Given the description of an element on the screen output the (x, y) to click on. 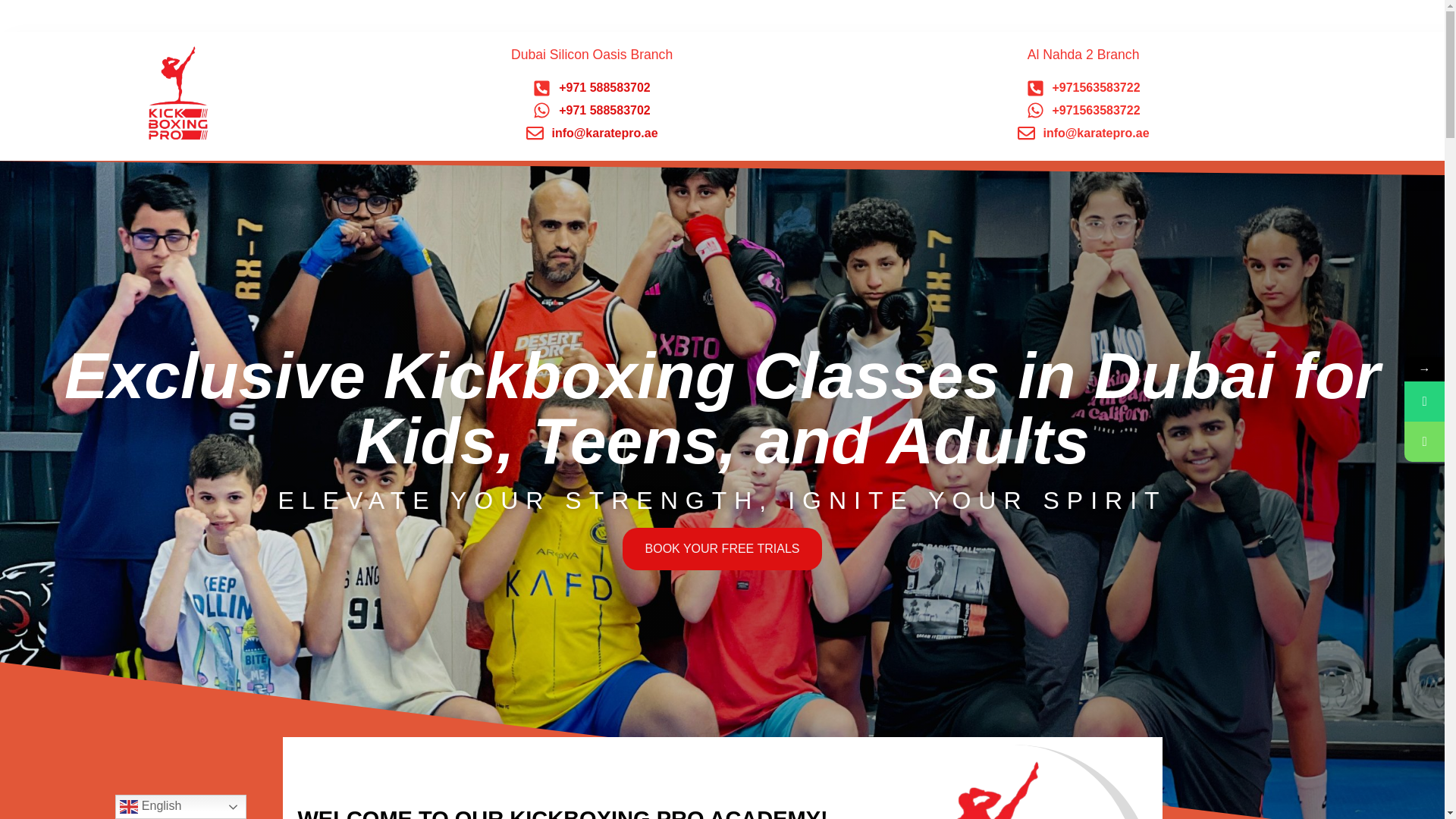
English (180, 806)
BOOK YOUR FREE TRIALS (722, 548)
